Given the description of an element on the screen output the (x, y) to click on. 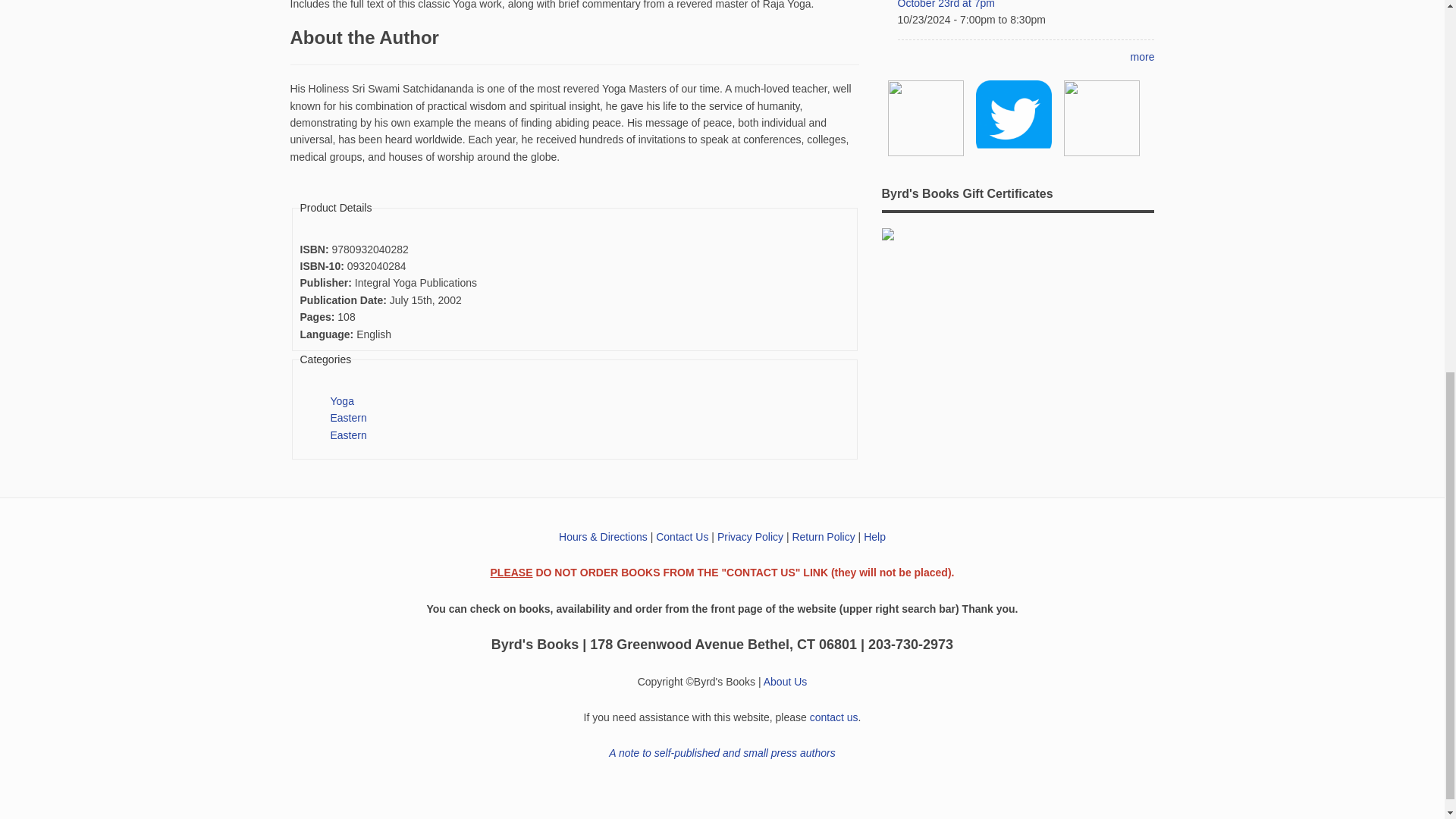
Eastern (348, 435)
more (1142, 56)
Contact Us (681, 536)
Yoga (341, 400)
Eastern (348, 417)
